Given the description of an element on the screen output the (x, y) to click on. 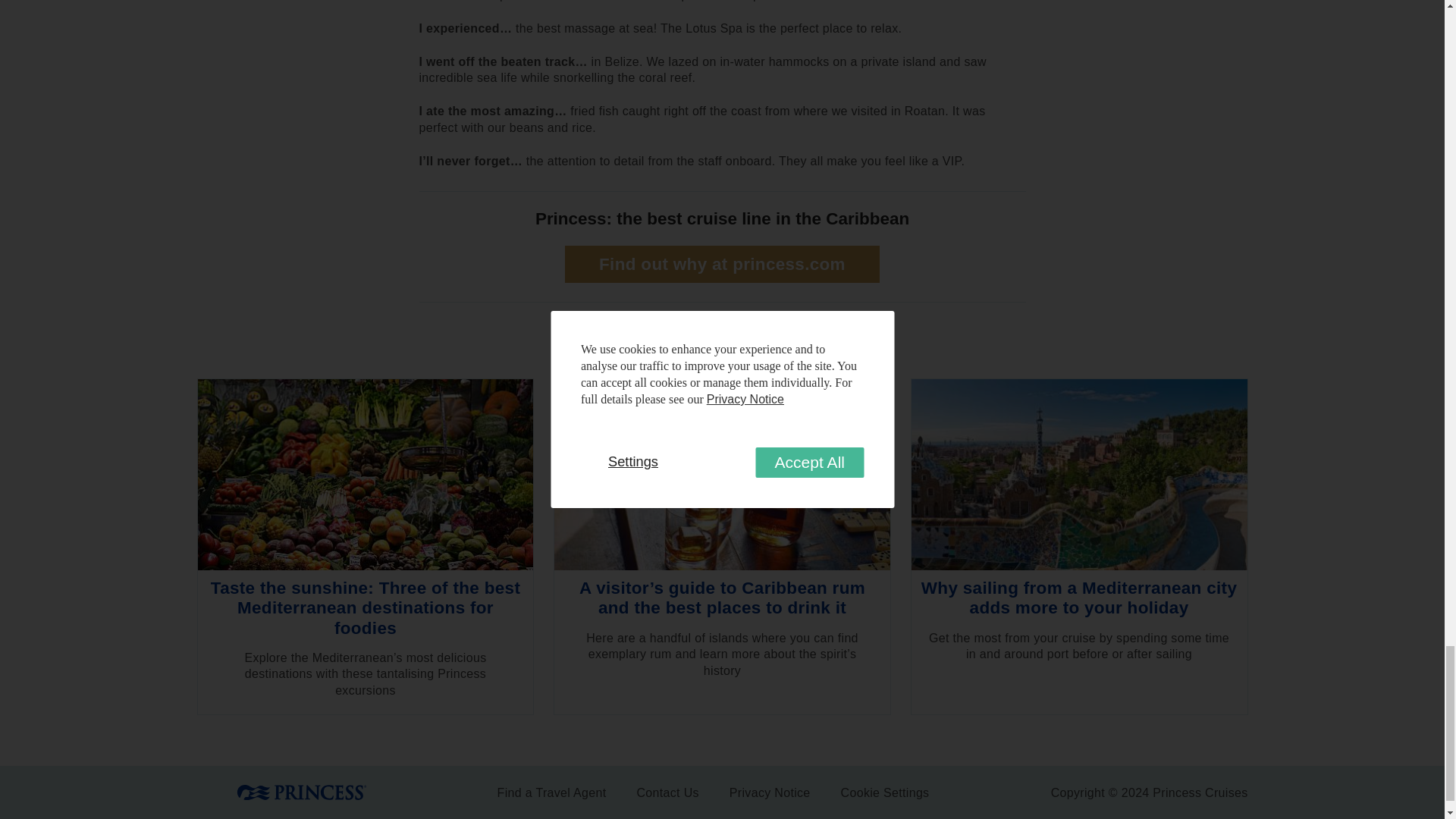
Privacy Notice (770, 792)
Find out why at princess.com (721, 263)
Contact Us (667, 792)
Cookie Settings (884, 792)
Find a Travel Agent (551, 792)
